Given the description of an element on the screen output the (x, y) to click on. 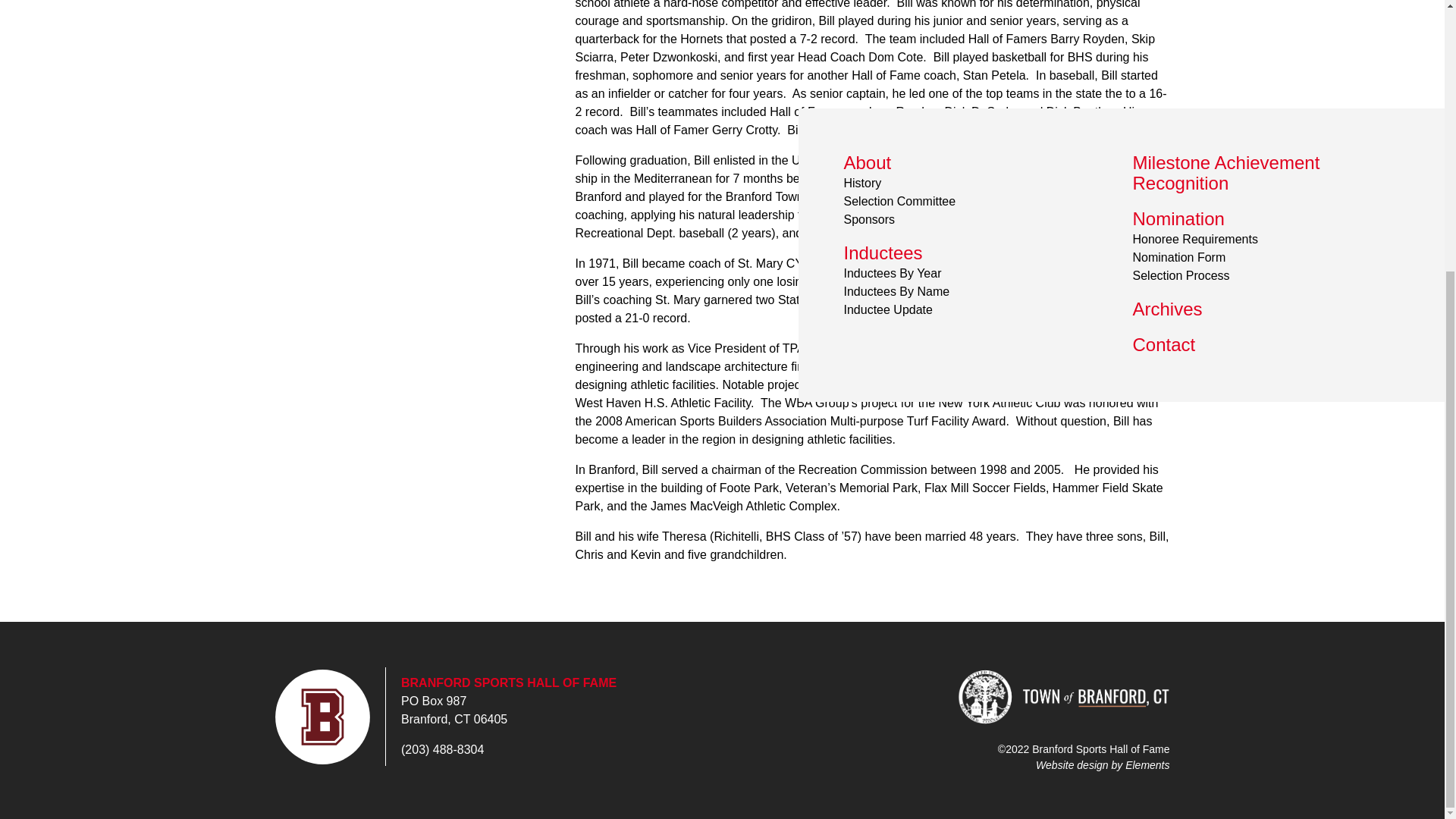
Elements (1147, 764)
